Given the description of an element on the screen output the (x, y) to click on. 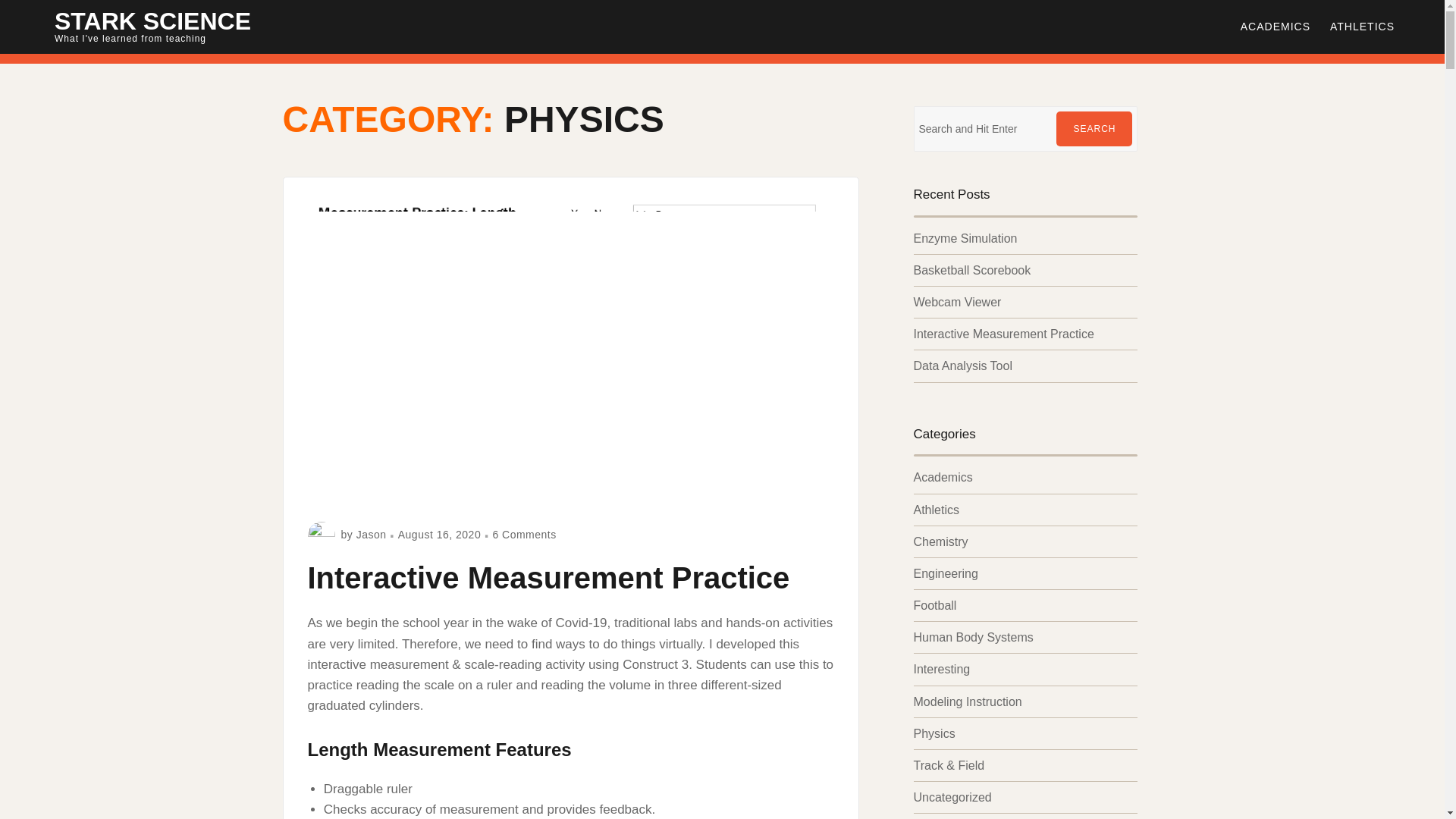
ACADEMICS (1275, 26)
Jason (371, 534)
Interactive Measurement Practice (524, 534)
August 16, 2020 (548, 577)
ATHLETICS (438, 534)
STARK SCIENCE (1362, 26)
